Given the description of an element on the screen output the (x, y) to click on. 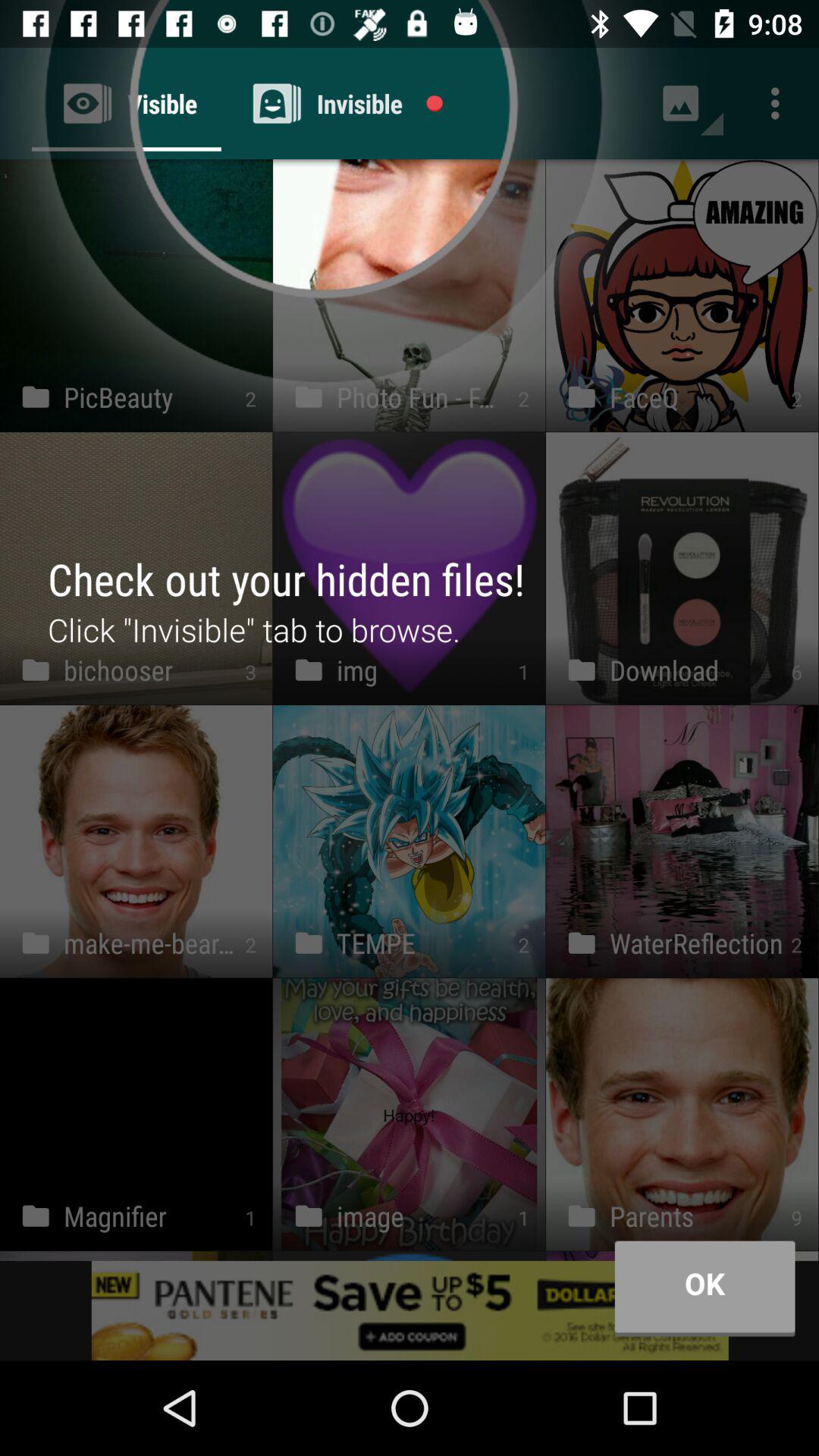
go to advertisement (409, 1310)
